Given the description of an element on the screen output the (x, y) to click on. 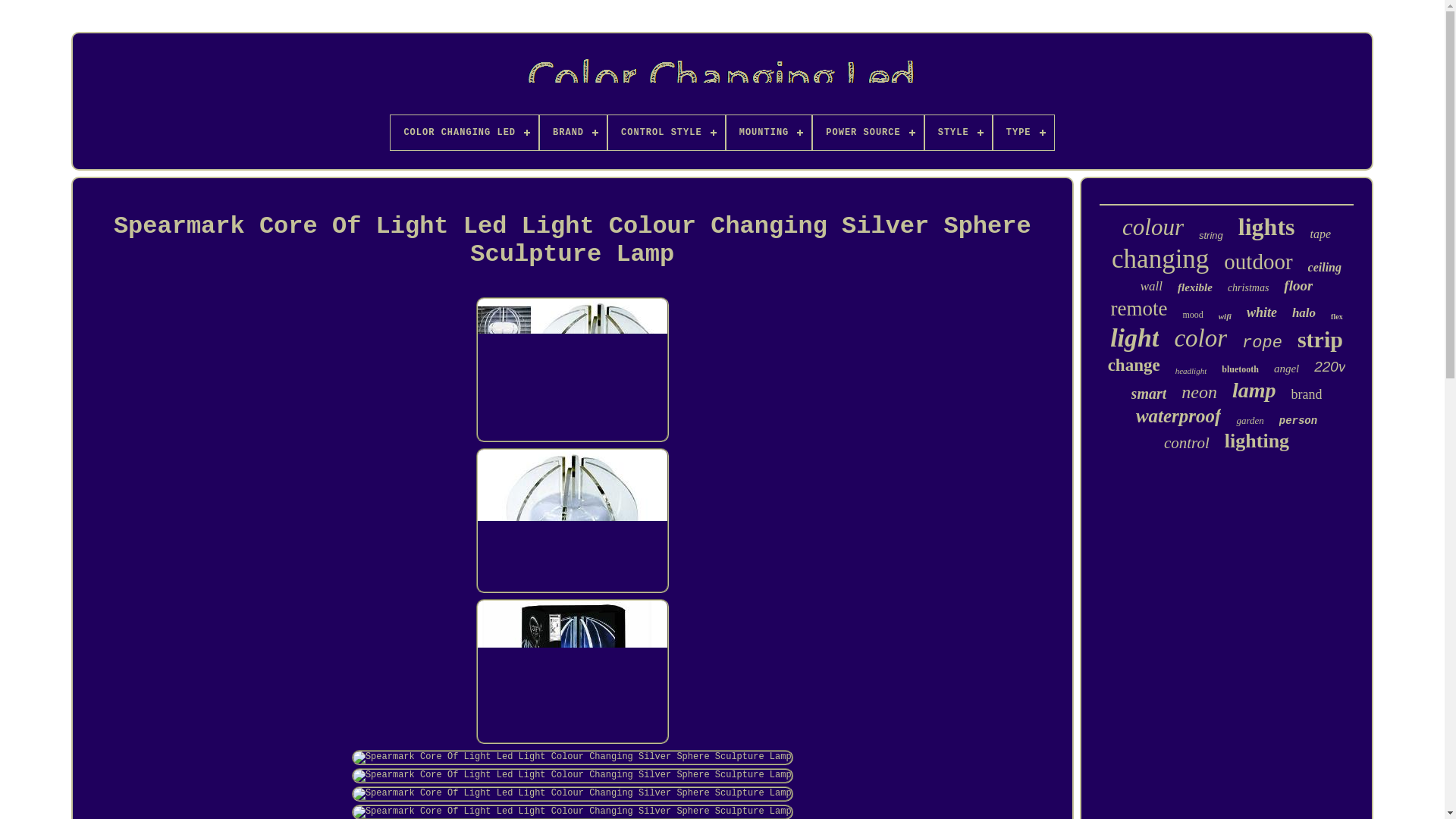
BRAND (573, 132)
COLOR CHANGING LED (464, 132)
CONTROL STYLE (666, 132)
